Given the description of an element on the screen output the (x, y) to click on. 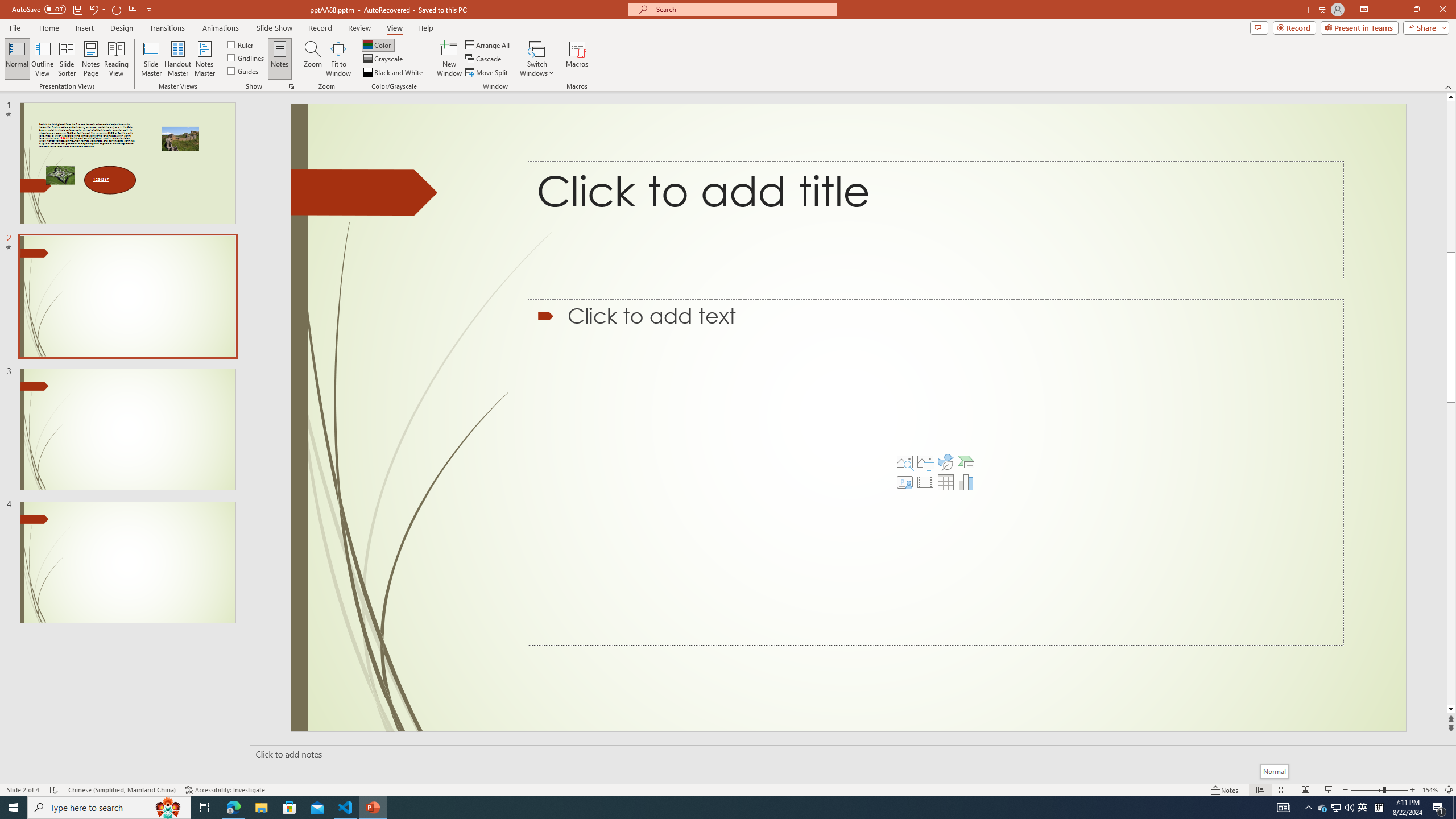
Zoom 154% (1430, 790)
Content Placeholder (935, 471)
Handout Master (177, 58)
Outline View (42, 58)
Fit to Window (338, 58)
Switch Windows (537, 58)
Move Split (487, 72)
Zoom... (312, 58)
Color (377, 44)
